Given the description of an element on the screen output the (x, y) to click on. 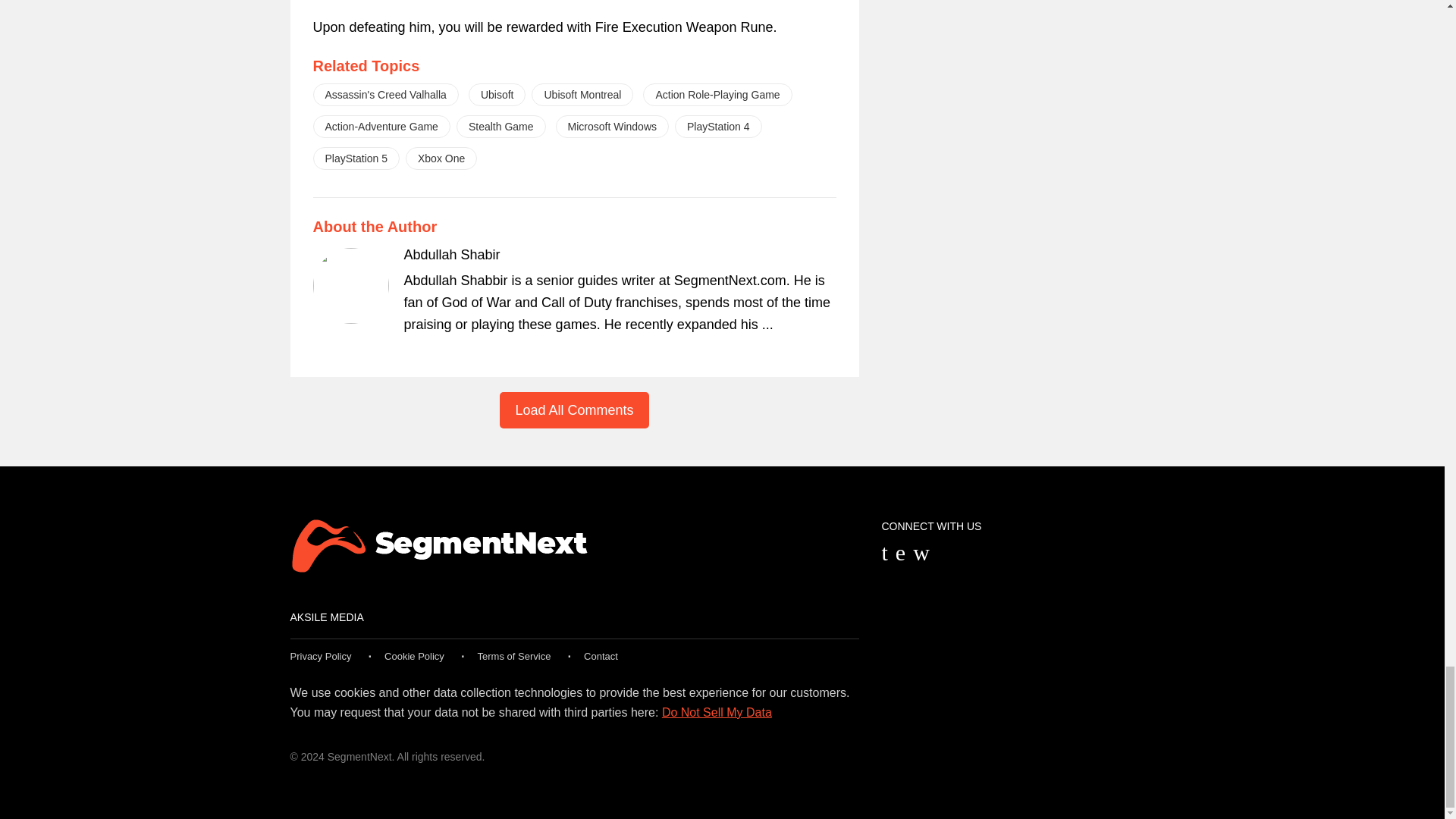
Ubisoft Montreal (582, 94)
Ubisoft (496, 94)
Stealth Game (501, 126)
Assassin's Creed Valhalla (385, 94)
Abdullah Shabir (451, 254)
Microsoft Windows (612, 126)
PlayStation 4 (718, 126)
Action Role-Playing Game (717, 94)
PlayStation 5 (355, 158)
Action-Adventure Game (381, 126)
